Given the description of an element on the screen output the (x, y) to click on. 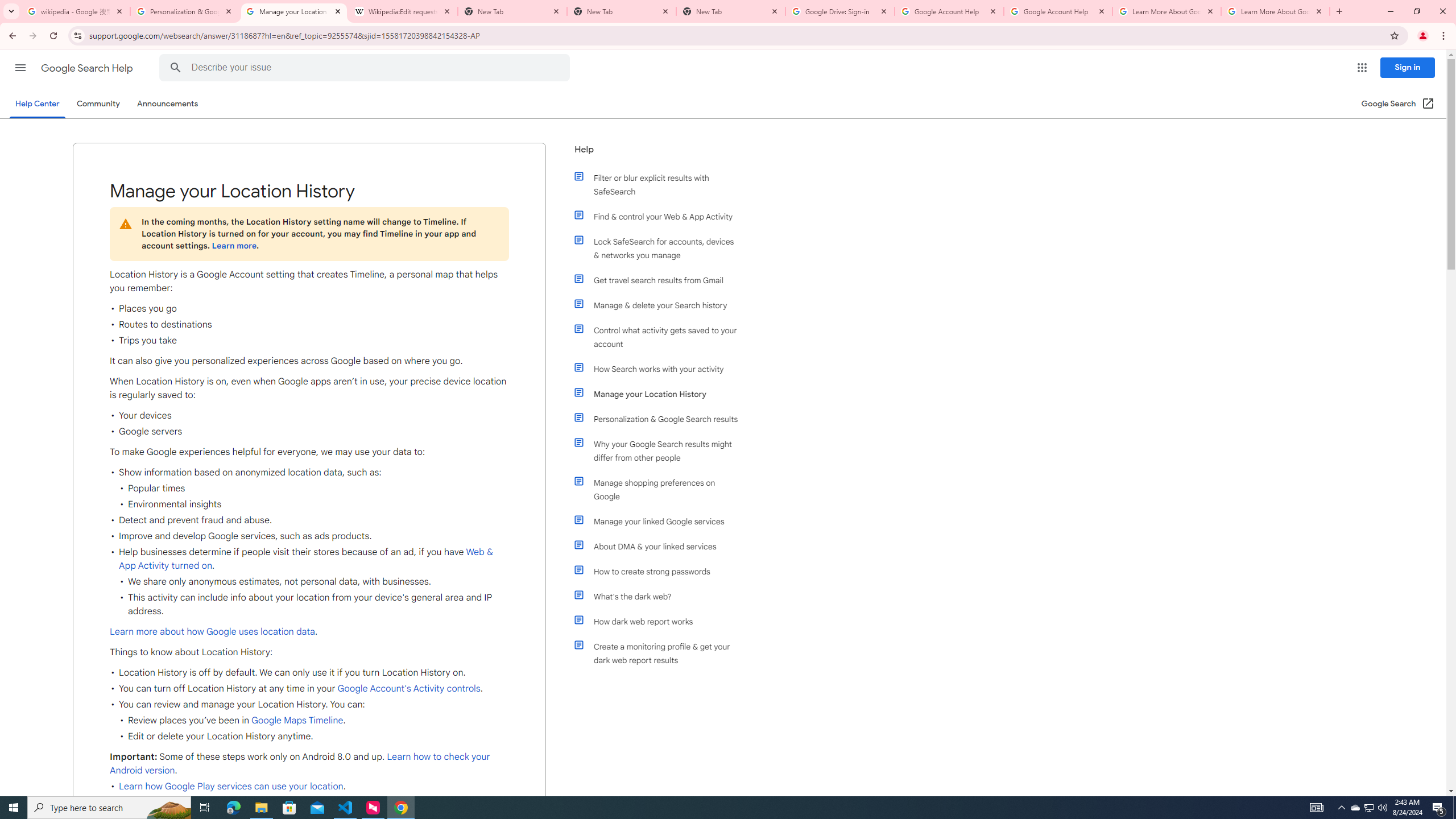
Help Center (36, 103)
Learn more (233, 245)
Filter or blur explicit results with SafeSearch (661, 184)
